Given the description of an element on the screen output the (x, y) to click on. 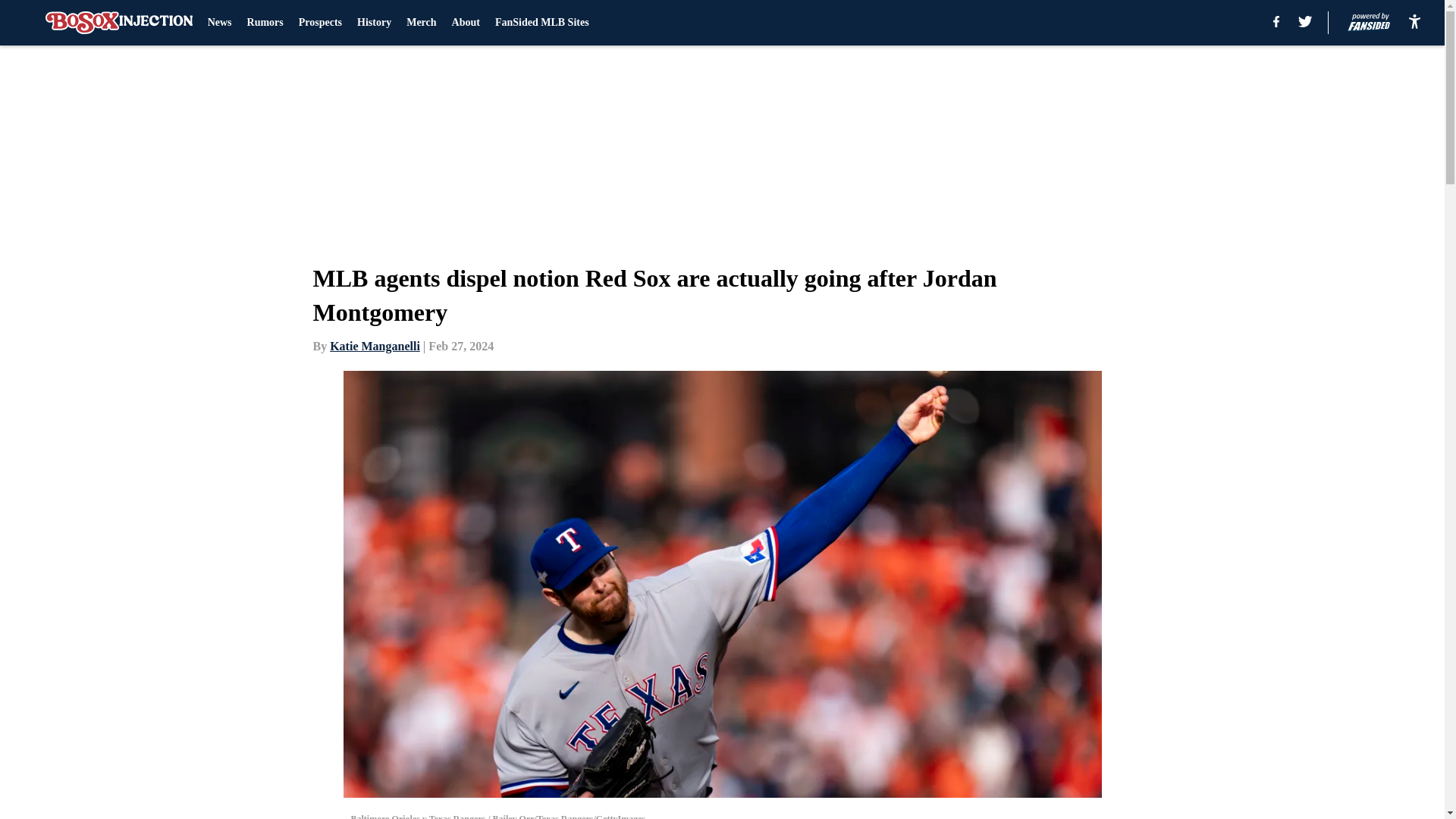
Katie Manganelli (375, 345)
Prospects (320, 22)
FanSided MLB Sites (542, 22)
History (373, 22)
News (219, 22)
Rumors (265, 22)
Merch (420, 22)
About (465, 22)
